Given the description of an element on the screen output the (x, y) to click on. 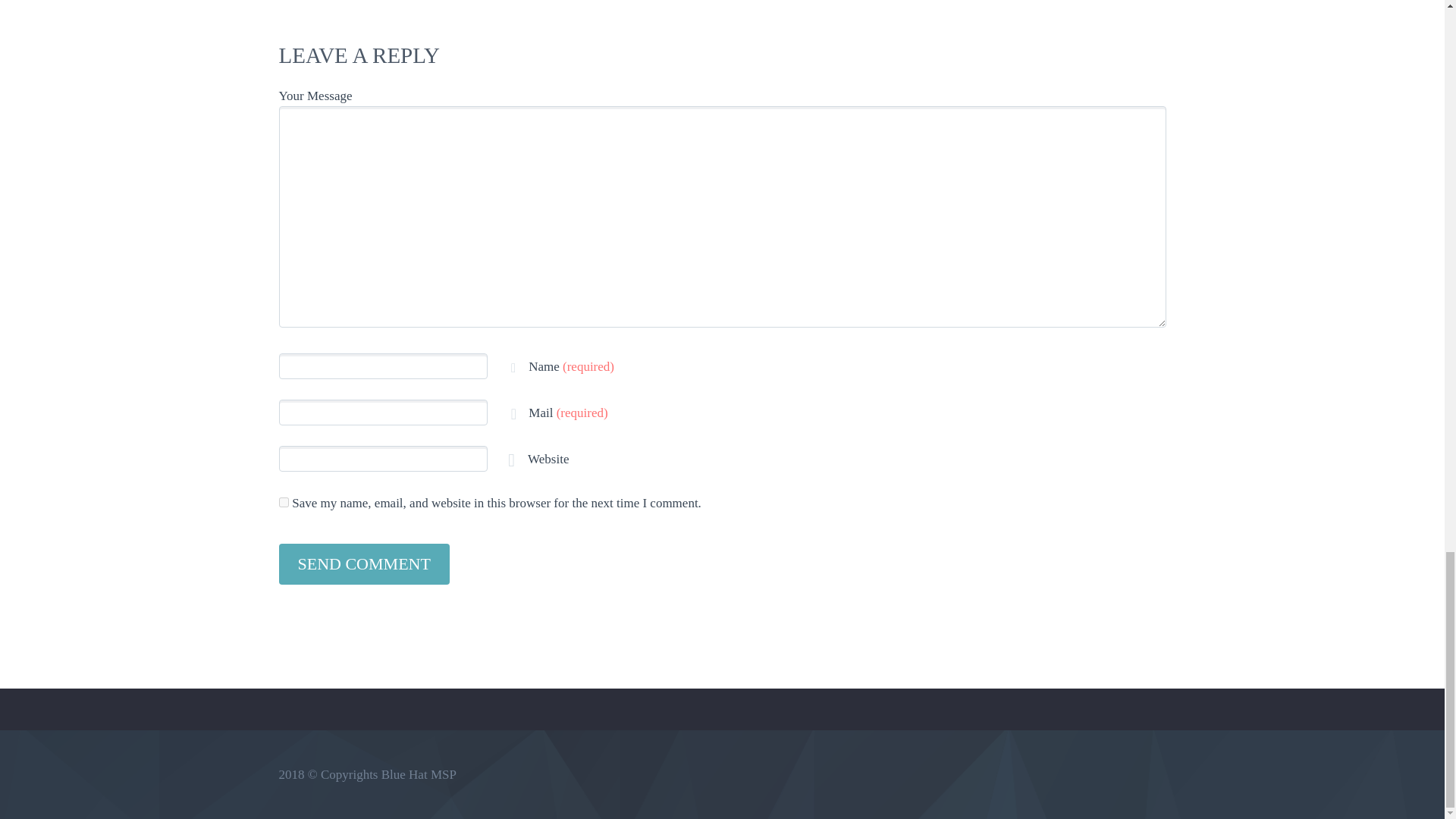
Send Comment (364, 563)
yes (283, 501)
Send Comment (364, 563)
